Given the description of an element on the screen output the (x, y) to click on. 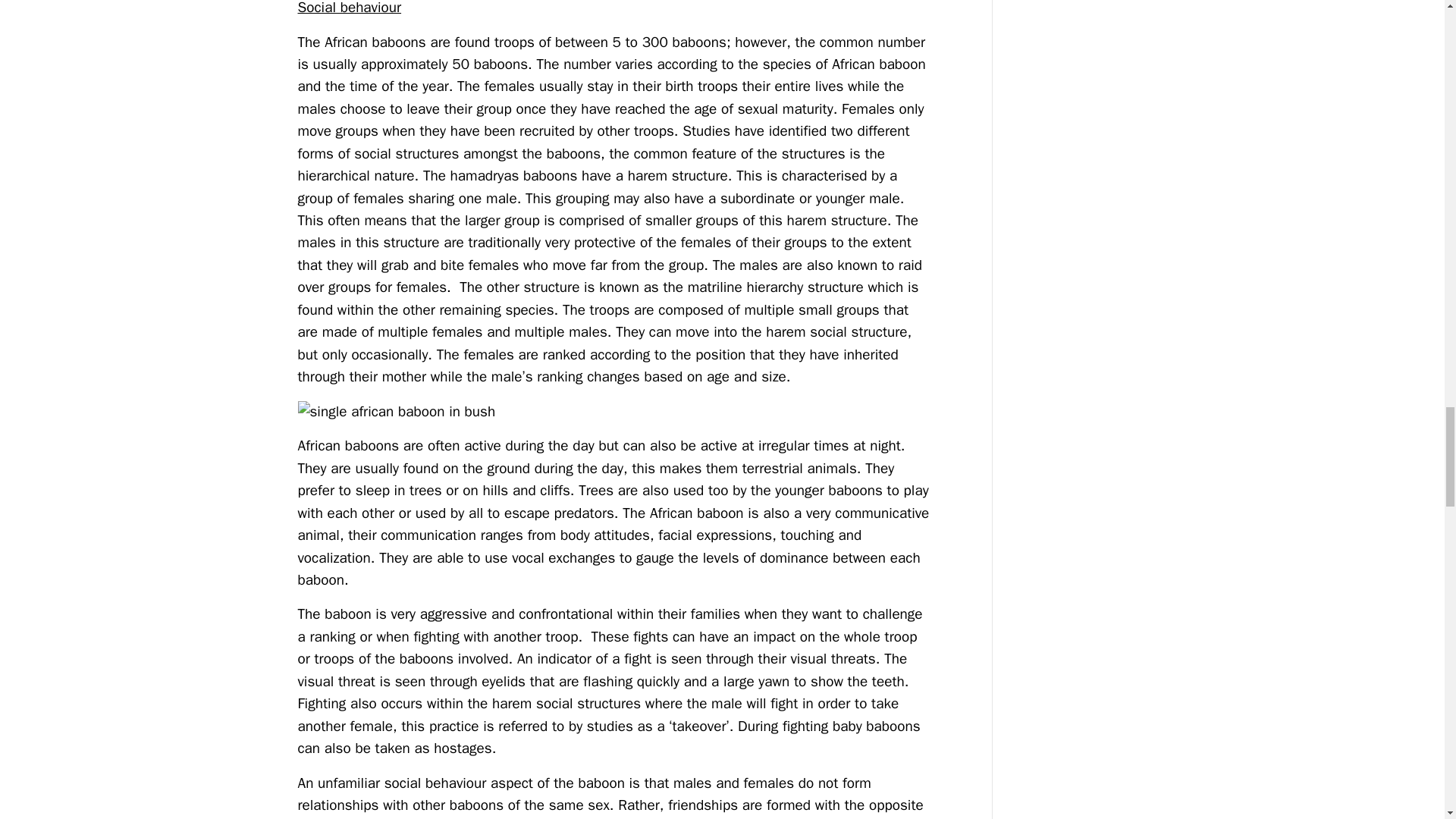
African Baboon 6 (614, 411)
